Given the description of an element on the screen output the (x, y) to click on. 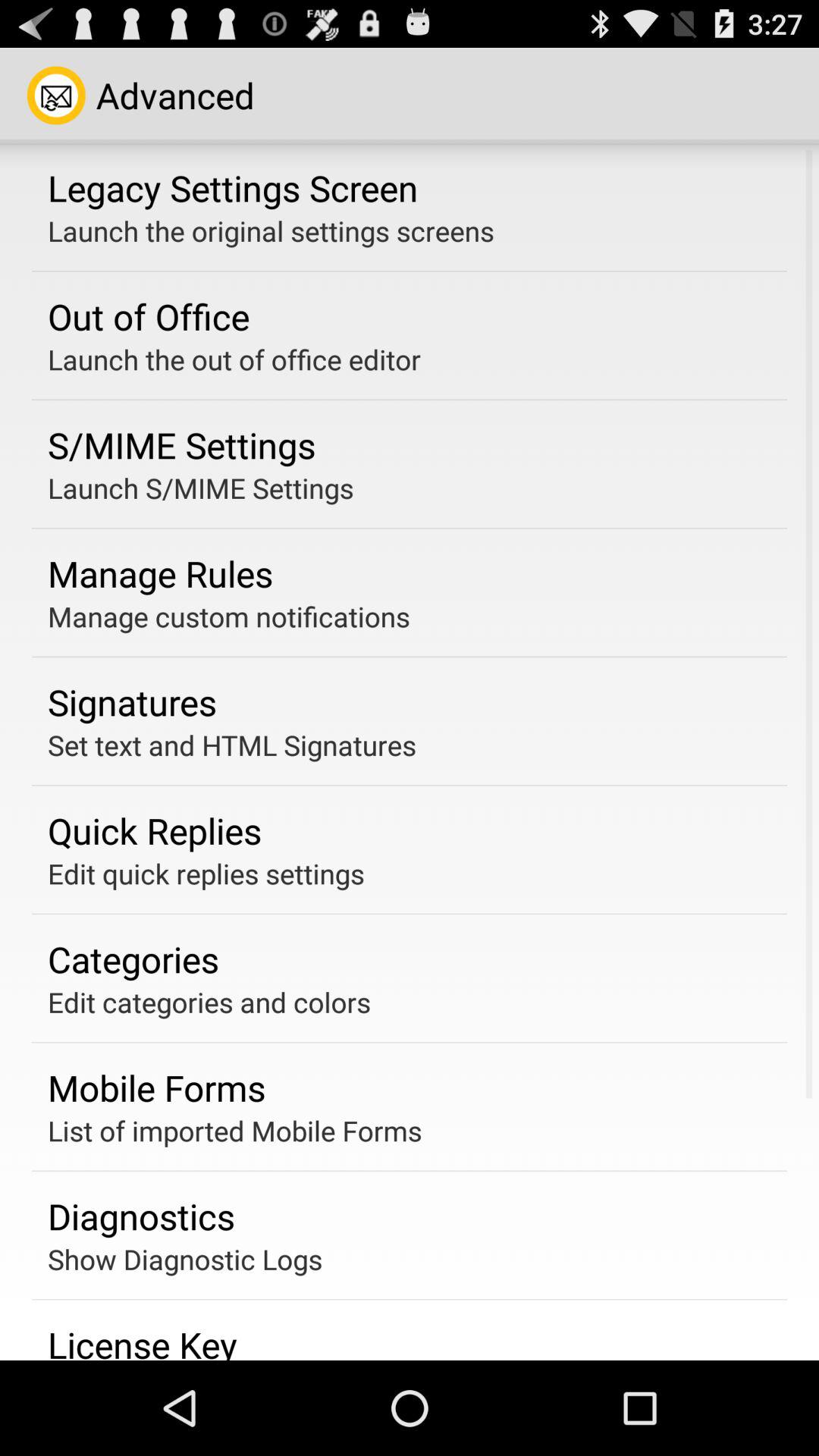
tap app below manage rules app (228, 616)
